Given the description of an element on the screen output the (x, y) to click on. 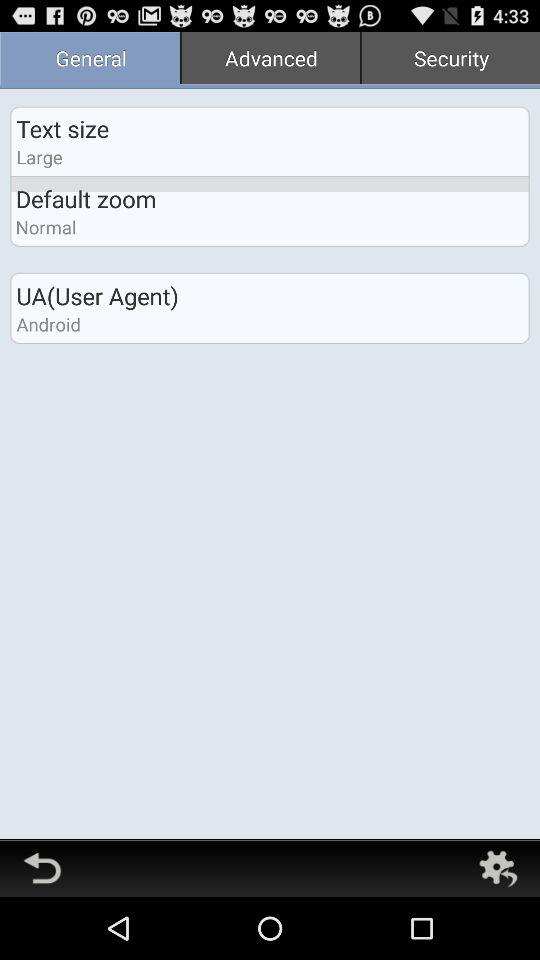
click the app to the left of the security app (270, 60)
